Given the description of an element on the screen output the (x, y) to click on. 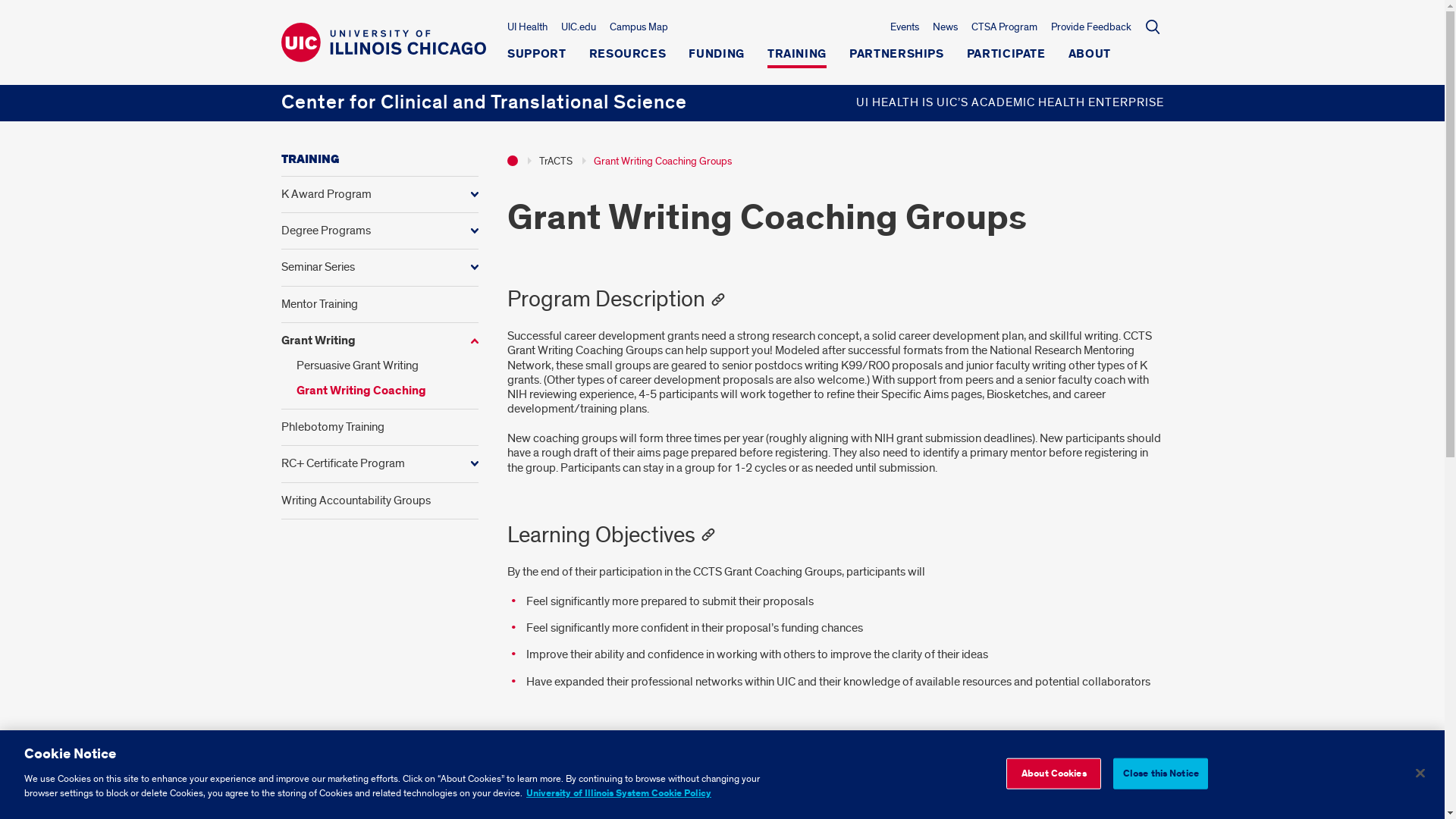
University of Illinois Chicago (382, 54)
FUNDING (716, 57)
RESOURCES (627, 57)
University of Illinois Chicago (382, 42)
SUPPORT (536, 57)
TRAINING (797, 57)
